Given the description of an element on the screen output the (x, y) to click on. 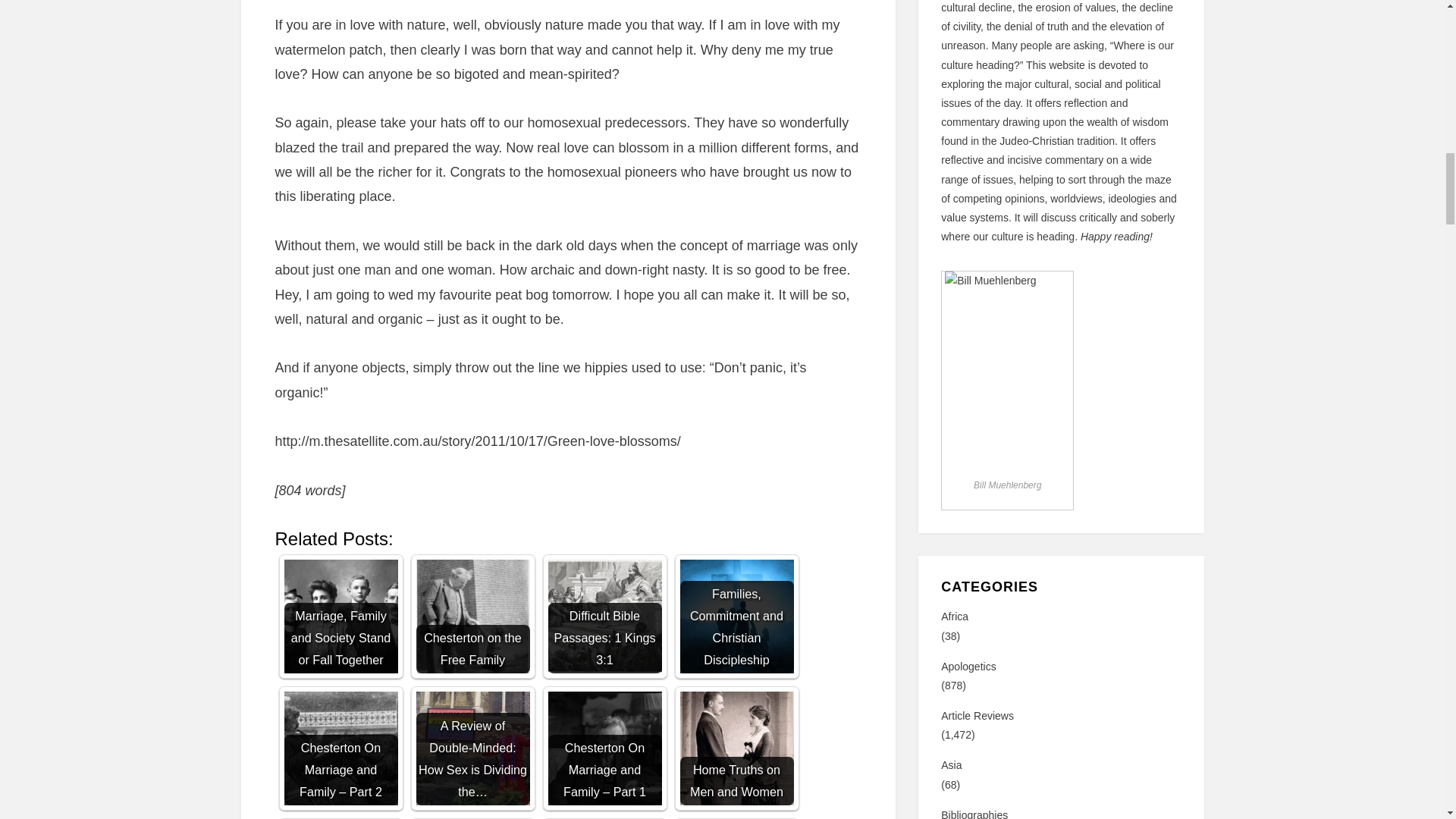
Home Truths on Men and Women (736, 748)
Families, Commitment and Christian Discipleship (736, 616)
Chesterton on the Free Family (471, 616)
Difficult Bible Passages: 1 Kings 3:1 (604, 616)
Home Truths on Men and Women (736, 748)
Families, Commitment and Christian Discipleship (736, 616)
Marriage, Family and Society Stand or Fall Together (340, 616)
Chesterton on the Free Family (471, 616)
Difficult Bible Passages: 1 Kings 3:1 (604, 616)
Marriage, Family and Society Stand or Fall Together (340, 616)
